Given the description of an element on the screen output the (x, y) to click on. 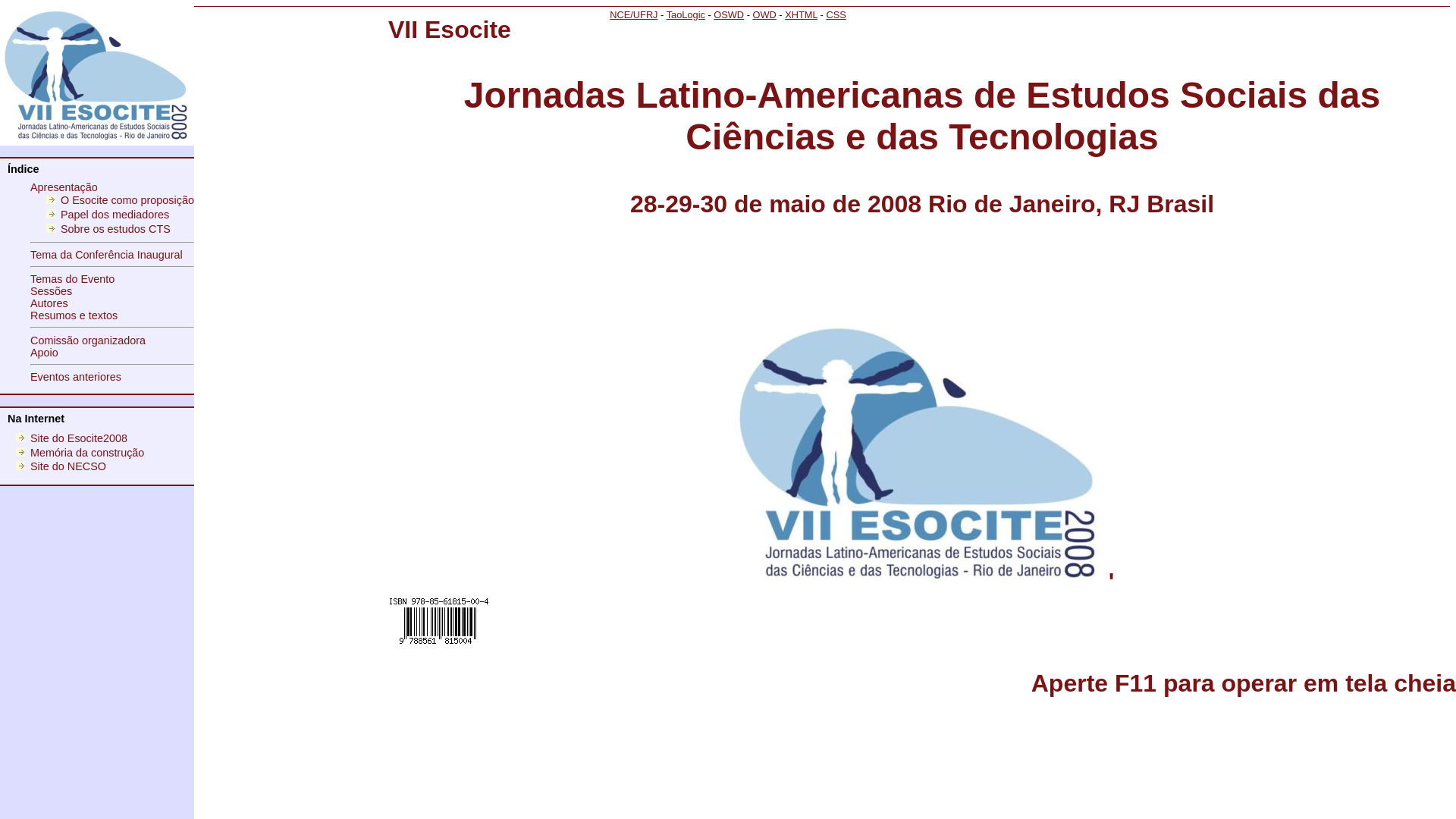
OSWD Element type: text (728, 14)
Site do Esocite2008 Element type: text (78, 438)
Resumos e textos Element type: text (73, 315)
OWD Element type: text (763, 14)
Eventos anteriores Element type: text (75, 376)
NCE/UFRJ Element type: text (633, 14)
Papel dos mediadores Element type: text (114, 214)
TaoLogic Element type: text (685, 14)
Temas do Evento Element type: text (72, 279)
Sobre os estudos CTS Element type: text (115, 228)
XHTML Element type: text (800, 14)
Apoio Element type: text (44, 352)
CSS Element type: text (835, 14)
Autores Element type: text (49, 303)
Site do NECSO Element type: text (68, 466)
